Given the description of an element on the screen output the (x, y) to click on. 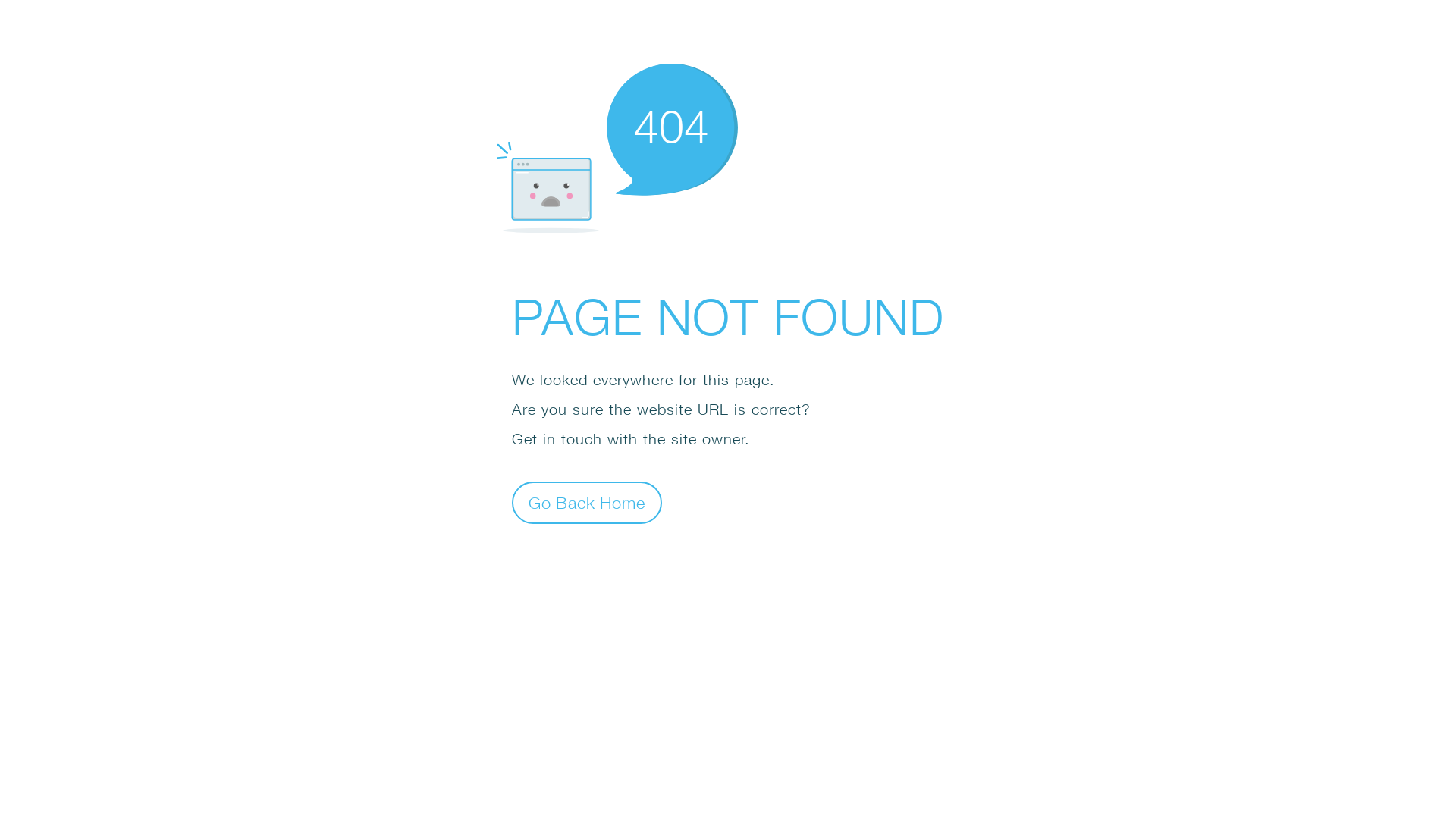
Go Back Home Element type: text (586, 502)
